Given the description of an element on the screen output the (x, y) to click on. 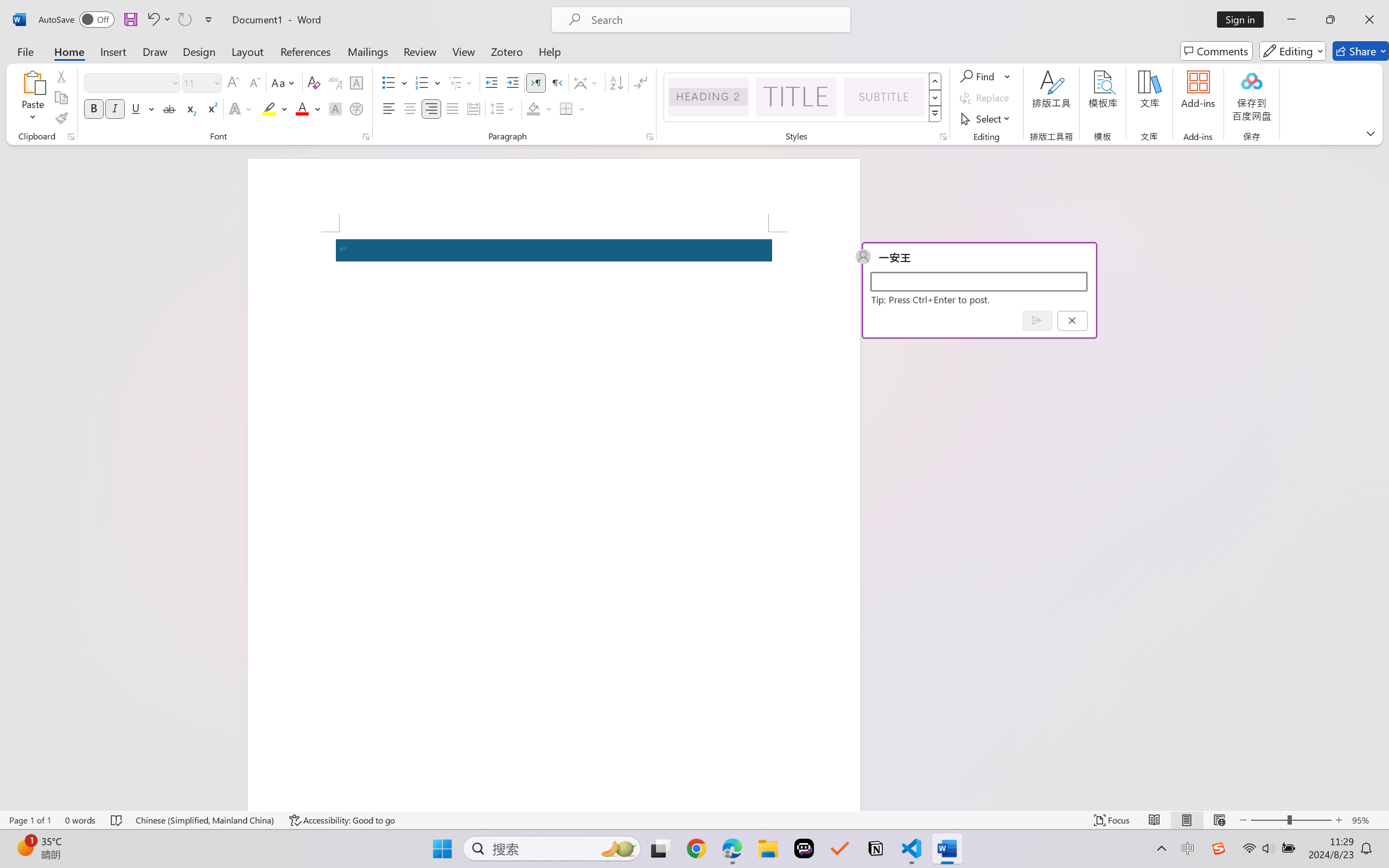
Subtitle (883, 96)
Title (796, 96)
AutomationID: QuickStylesGallery (802, 97)
Right-to-Left (556, 82)
